Given the description of an element on the screen output the (x, y) to click on. 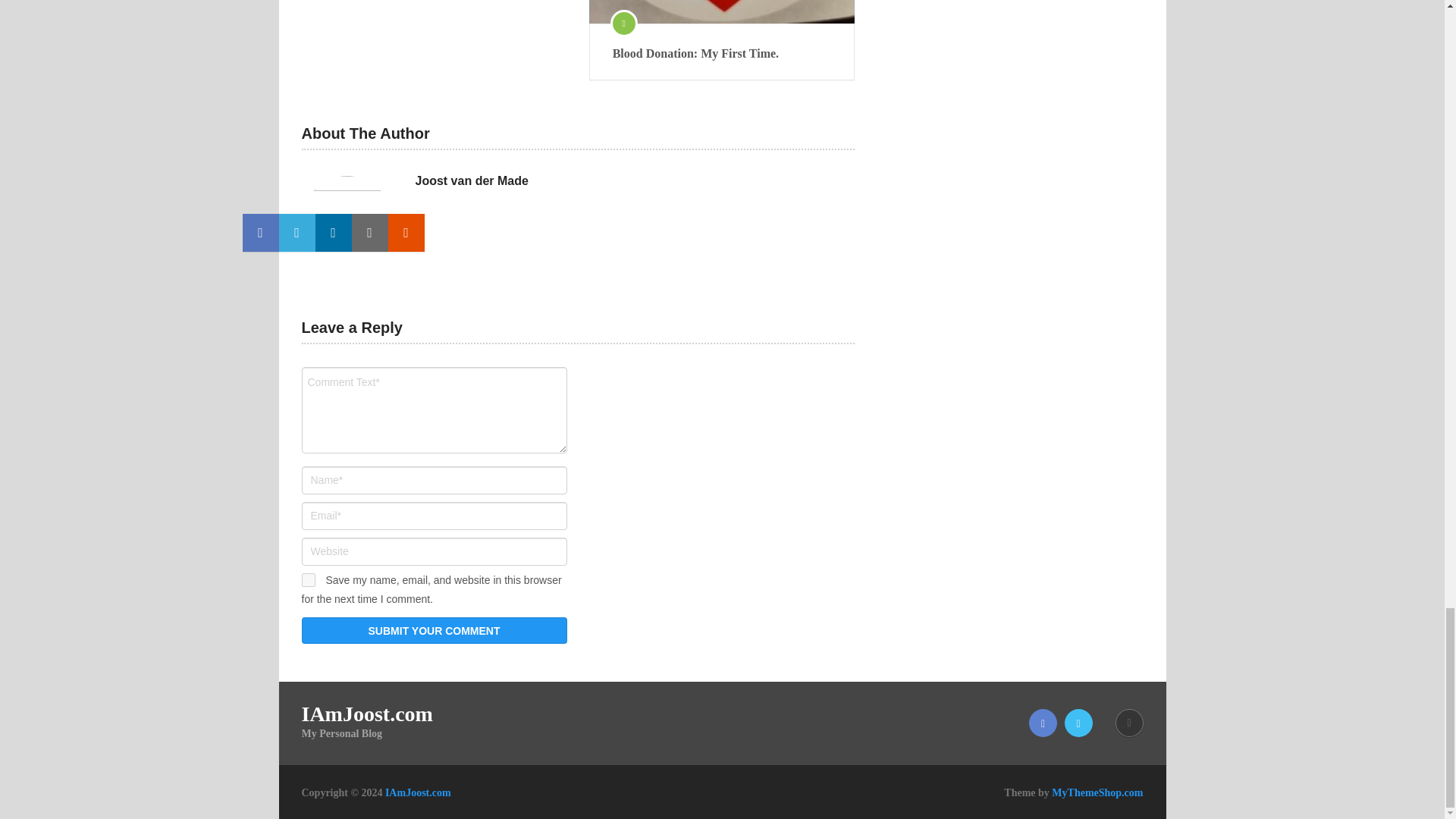
Blood Donation: My First Time. (721, 11)
Joost van der Made (471, 180)
Blood Donation: My First Time. (721, 53)
 My Personal Blog (418, 792)
Blood Donation: My First Time. (721, 53)
Submit Your Comment (434, 630)
yes (308, 580)
